Given the description of an element on the screen output the (x, y) to click on. 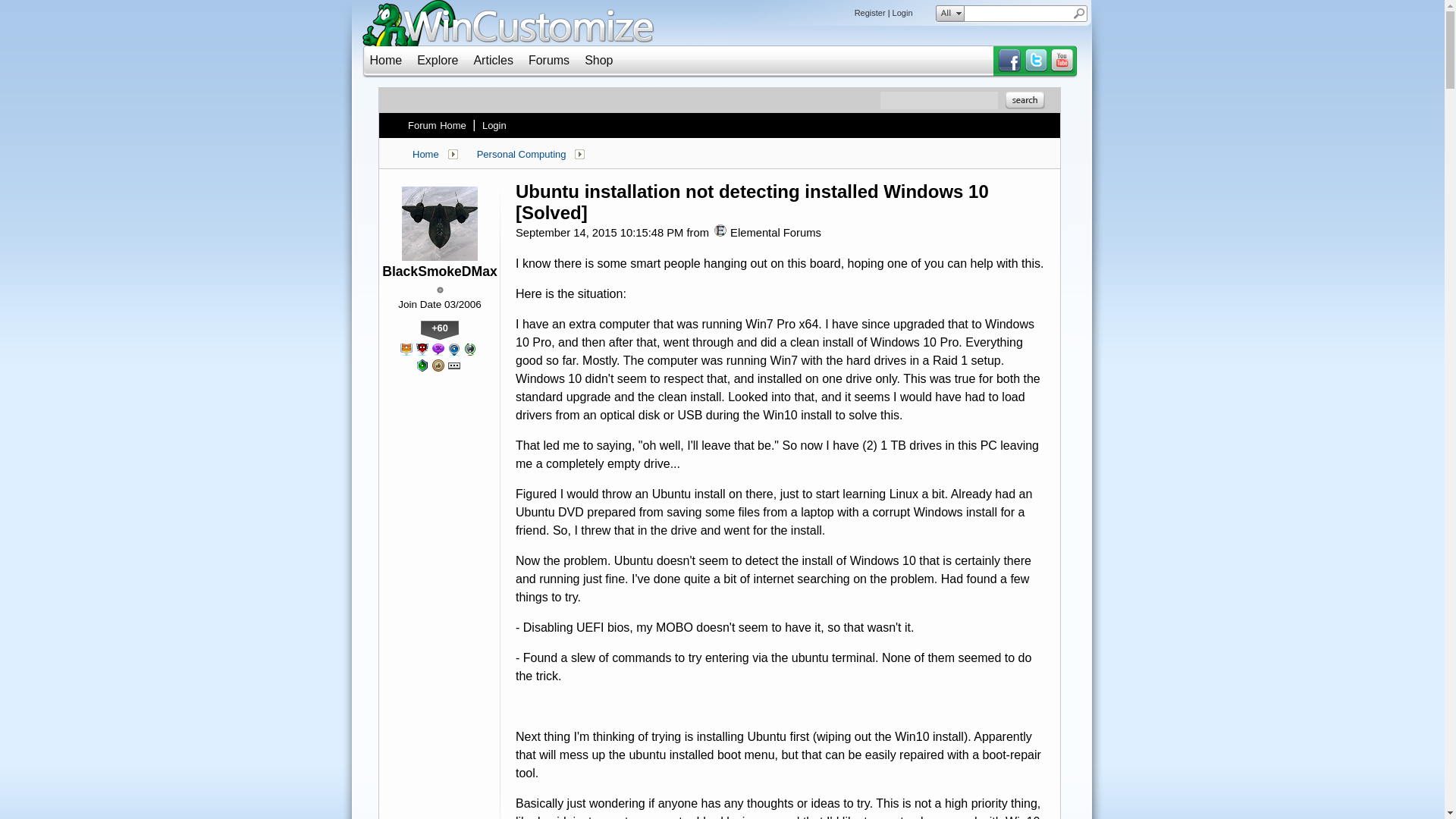
Home (386, 60)
Login (493, 125)
query (1018, 14)
Login (902, 12)
Articles (492, 60)
BlackSmokeDMax (439, 271)
Click user name to view more options. (439, 271)
View BlackSmokeDMax's Karma (439, 330)
all (946, 13)
Forums (548, 60)
